Given the description of an element on the screen output the (x, y) to click on. 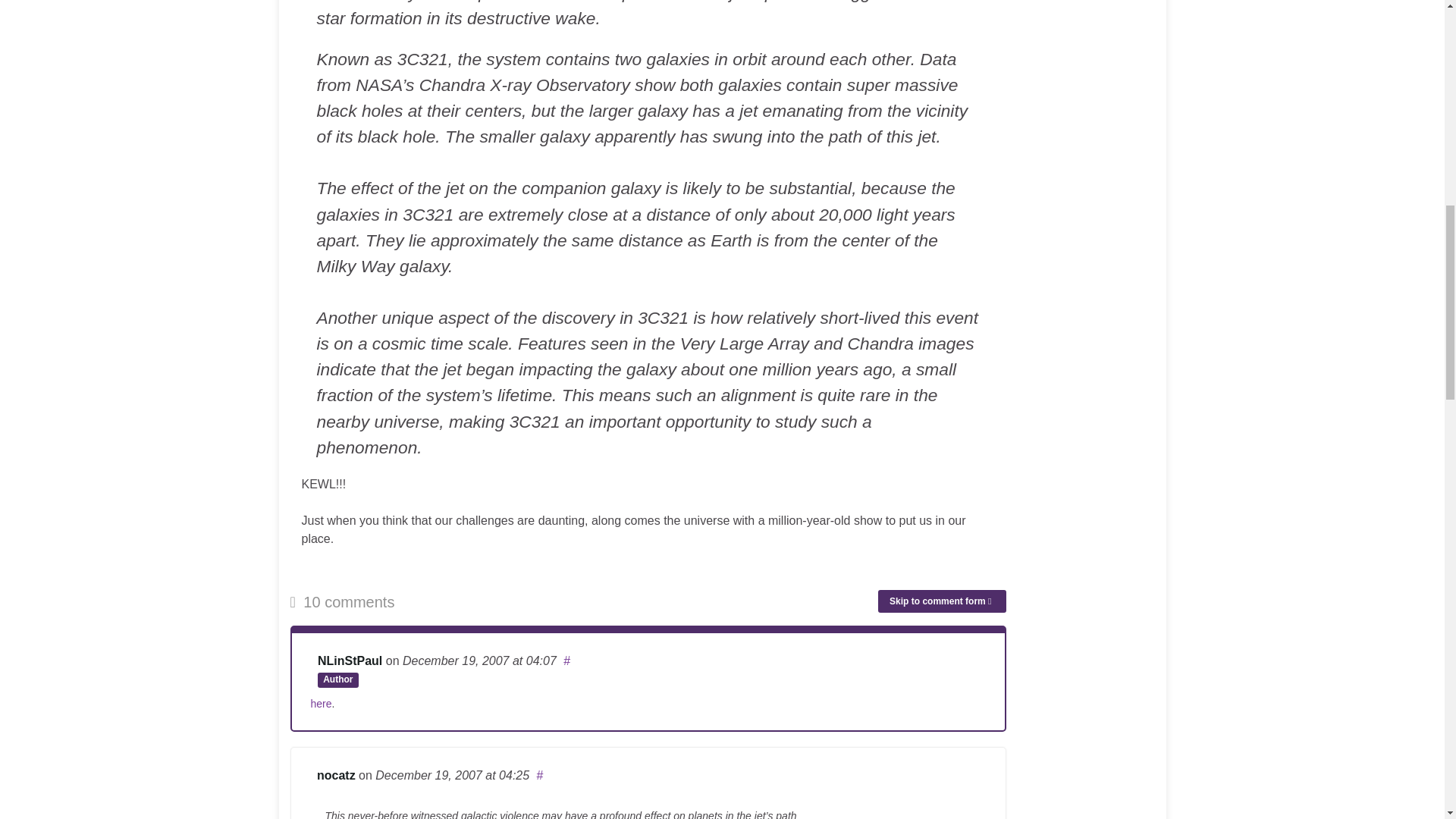
Skip to comment form (941, 600)
here (321, 703)
nocatz (336, 775)
NLinStPaul (349, 660)
